Given the description of an element on the screen output the (x, y) to click on. 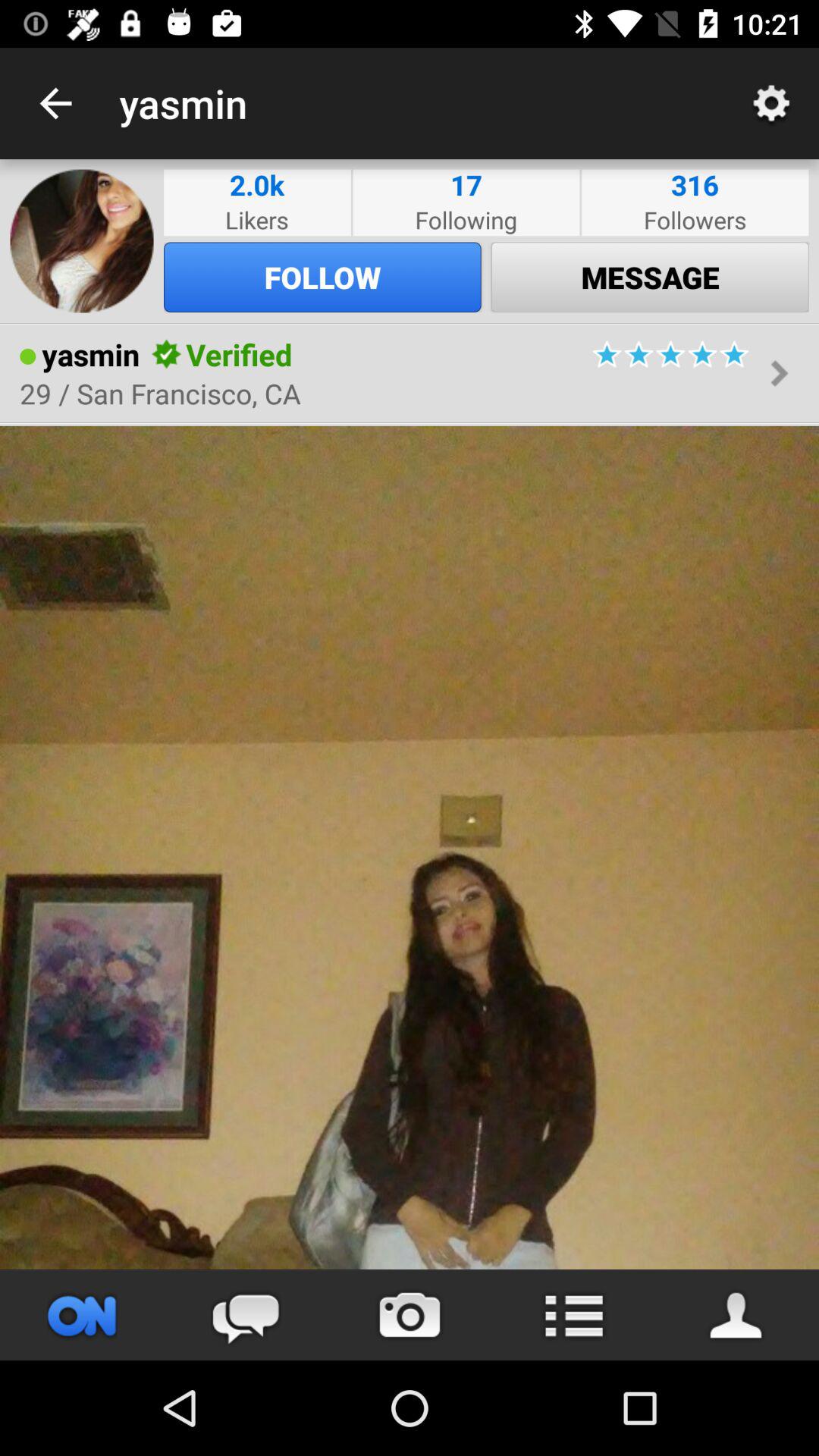
click photo (409, 847)
